Given the description of an element on the screen output the (x, y) to click on. 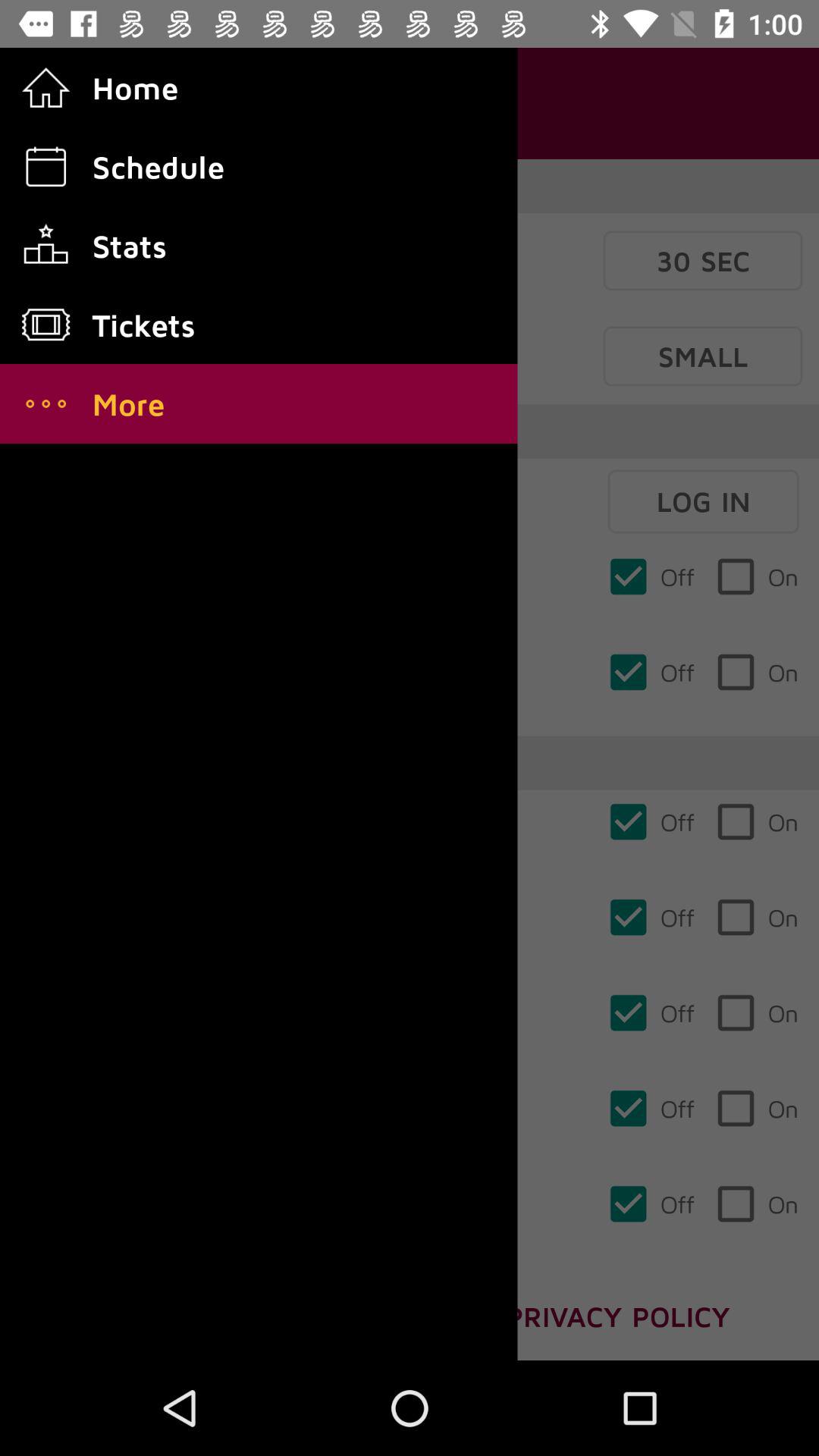
go to off in first row (650, 576)
select on which is below log in on the page (756, 576)
click on the last on text option (756, 1204)
select the third check box from the bottom which says off (650, 1013)
click on privacy policy which is at the bottom right corner (618, 1315)
